Given the description of an element on the screen output the (x, y) to click on. 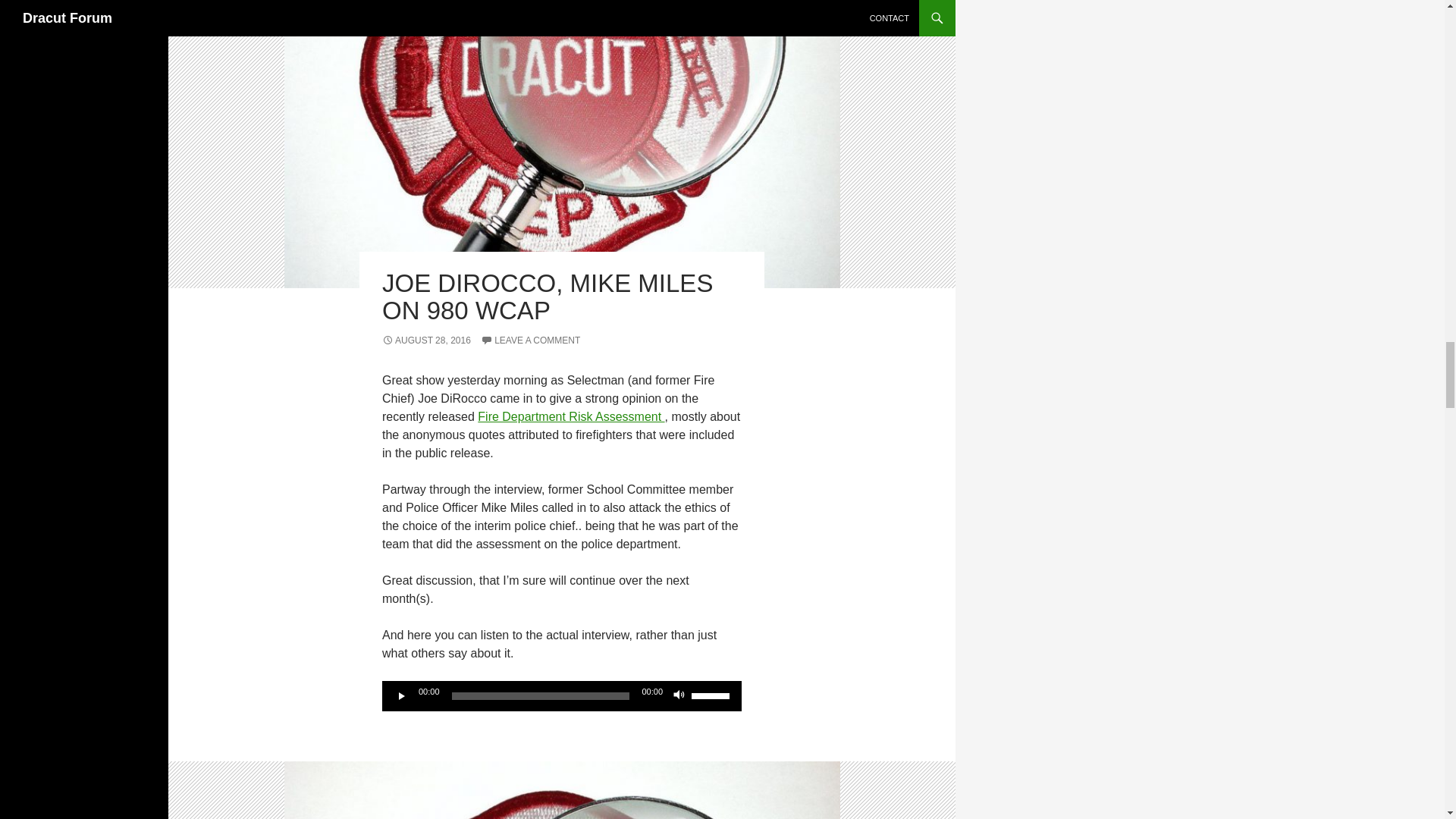
Play (401, 695)
